Given the description of an element on the screen output the (x, y) to click on. 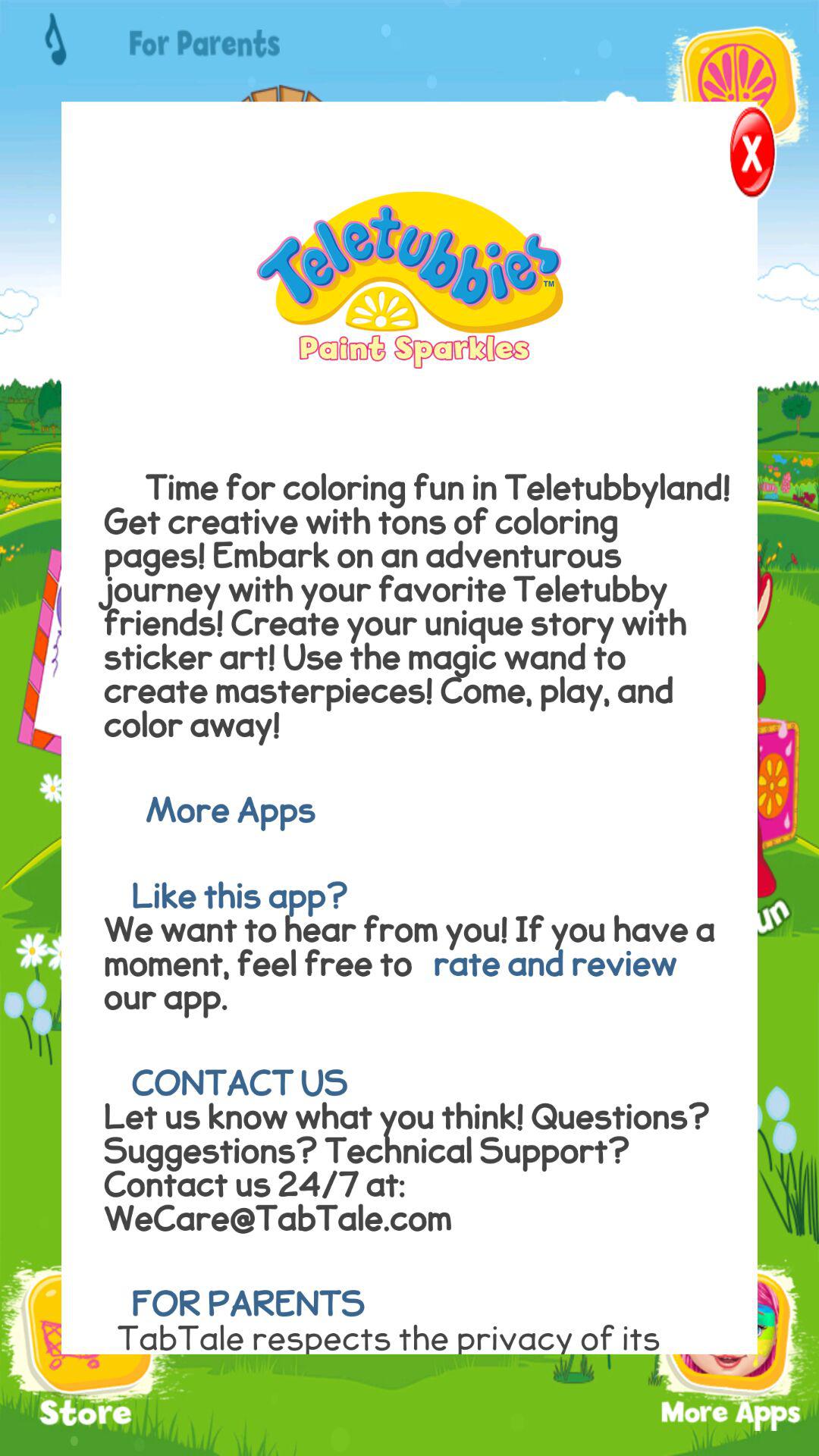
close the page (729, 156)
